Given the description of an element on the screen output the (x, y) to click on. 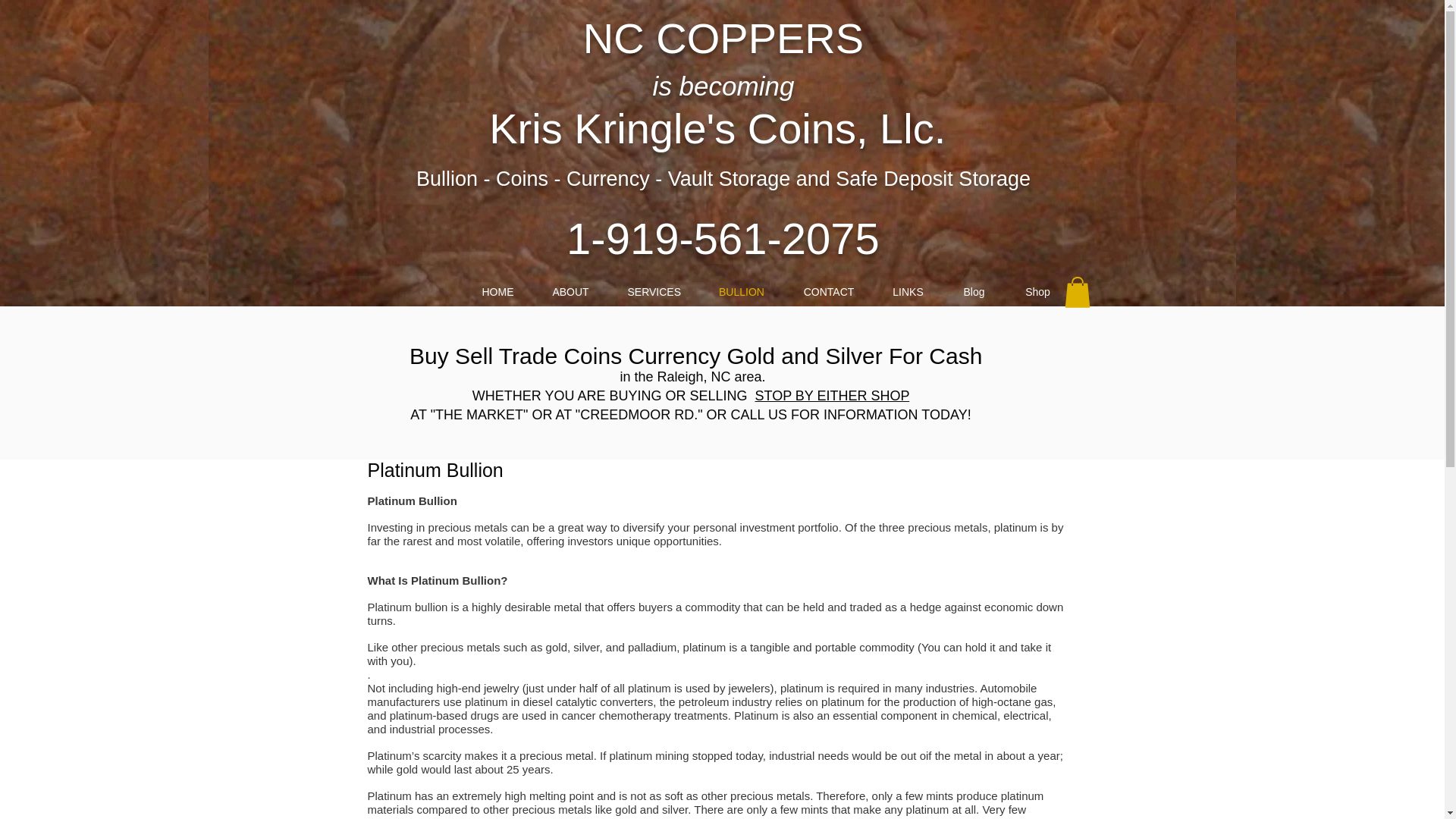
HOME (497, 291)
NC COPPERS (723, 38)
Blog (974, 291)
Shop (1038, 291)
LINKS (908, 291)
BULLION (741, 291)
SERVICES (653, 291)
Kris Kringle's Coins, Llc.  (723, 151)
STOP BY EITHER SHOP (832, 395)
CONTACT (828, 291)
is becoming (723, 85)
ABOUT (570, 291)
